Given the description of an element on the screen output the (x, y) to click on. 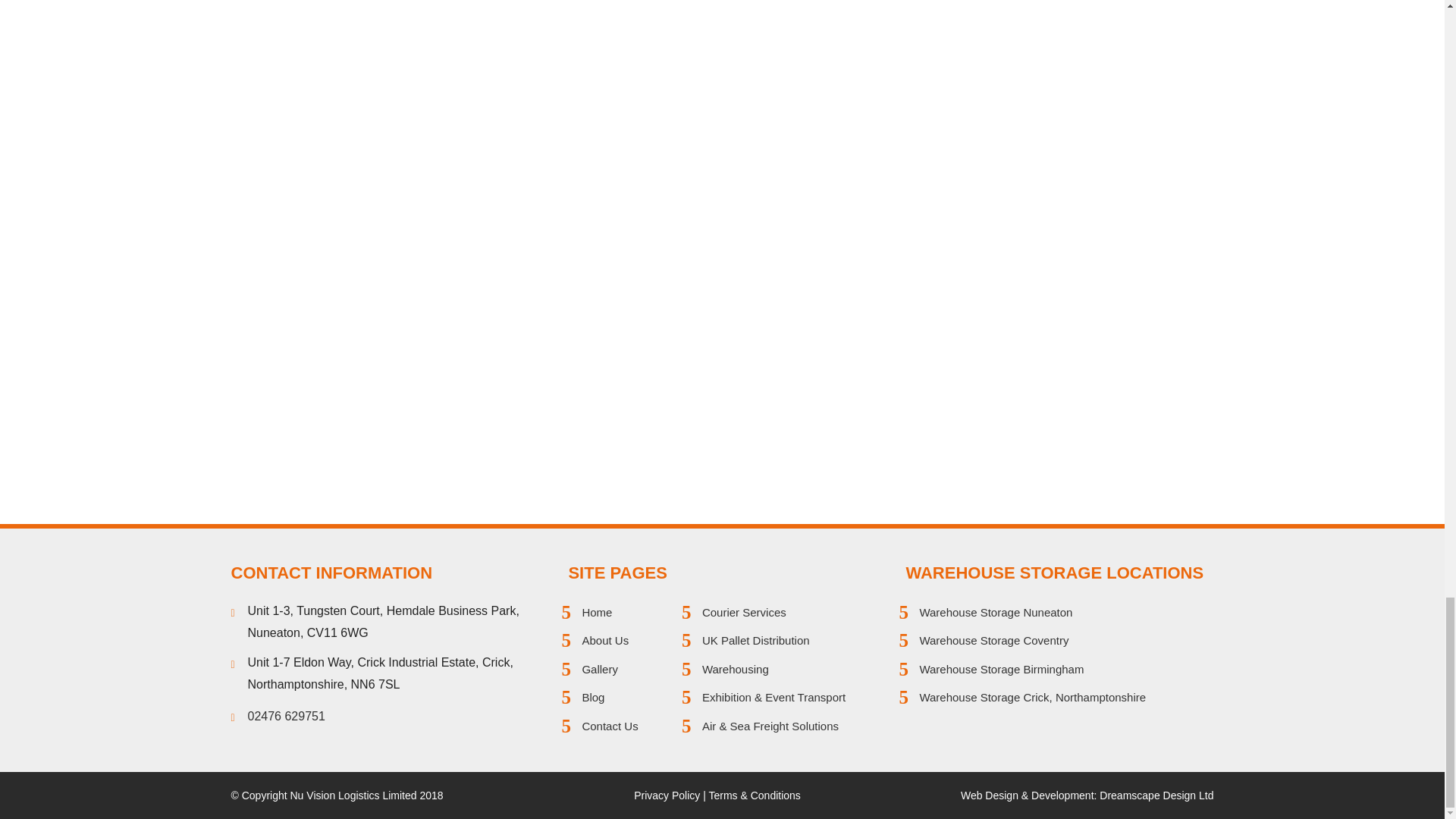
Warehouse Storage Nuneaton (994, 612)
UK Pallet Distribution (755, 640)
Warehousing (734, 668)
Warehouse Storage Birmingham (1000, 668)
Courier Services (743, 612)
Warehouse Storage Coventry (993, 640)
Warehouse Storage Crick, Northamptonshire (1031, 697)
About Us (604, 640)
Blog (592, 697)
Privacy Policy (666, 795)
